Given the description of an element on the screen output the (x, y) to click on. 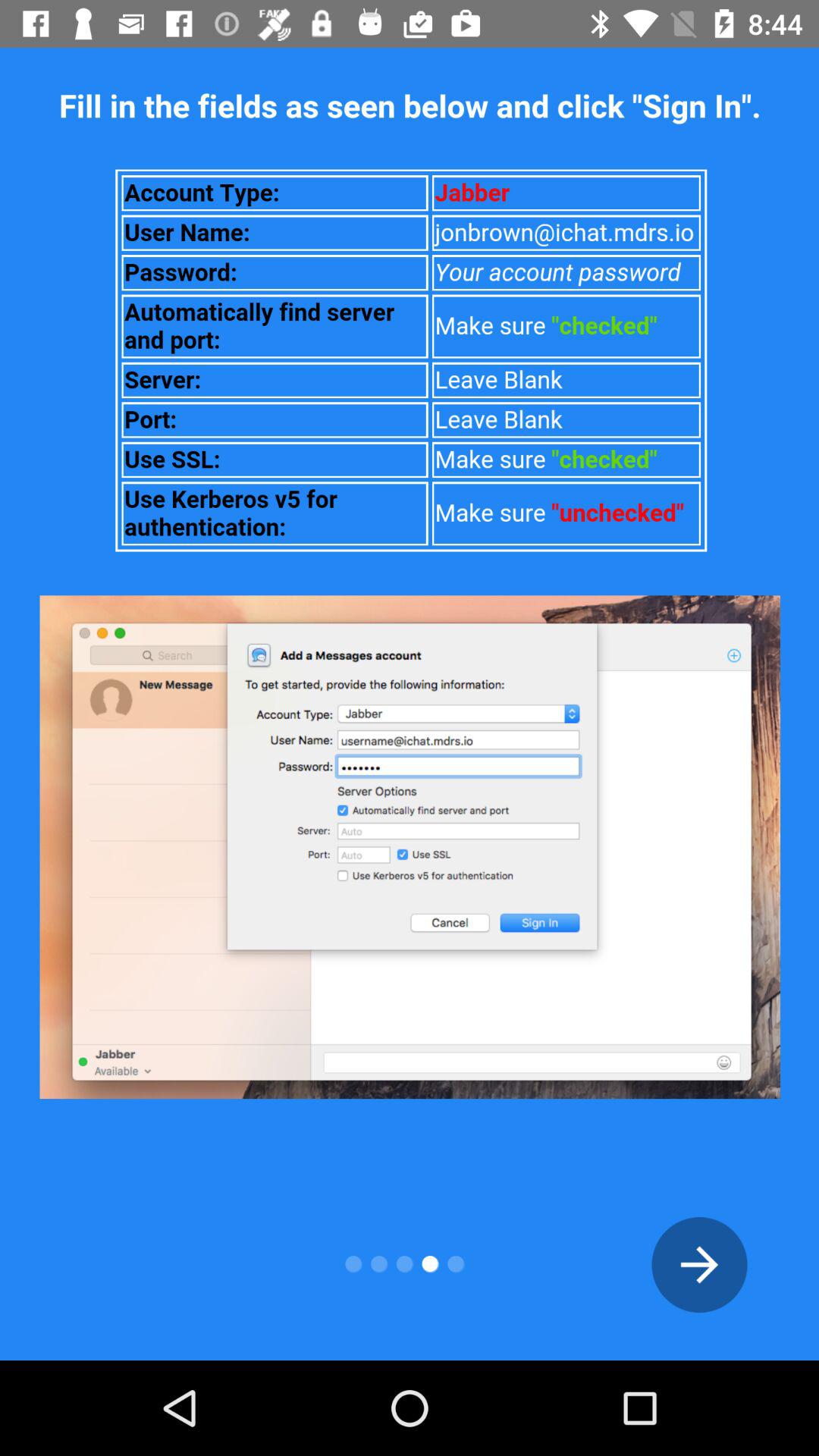
go to previous (699, 1264)
